Given the description of an element on the screen output the (x, y) to click on. 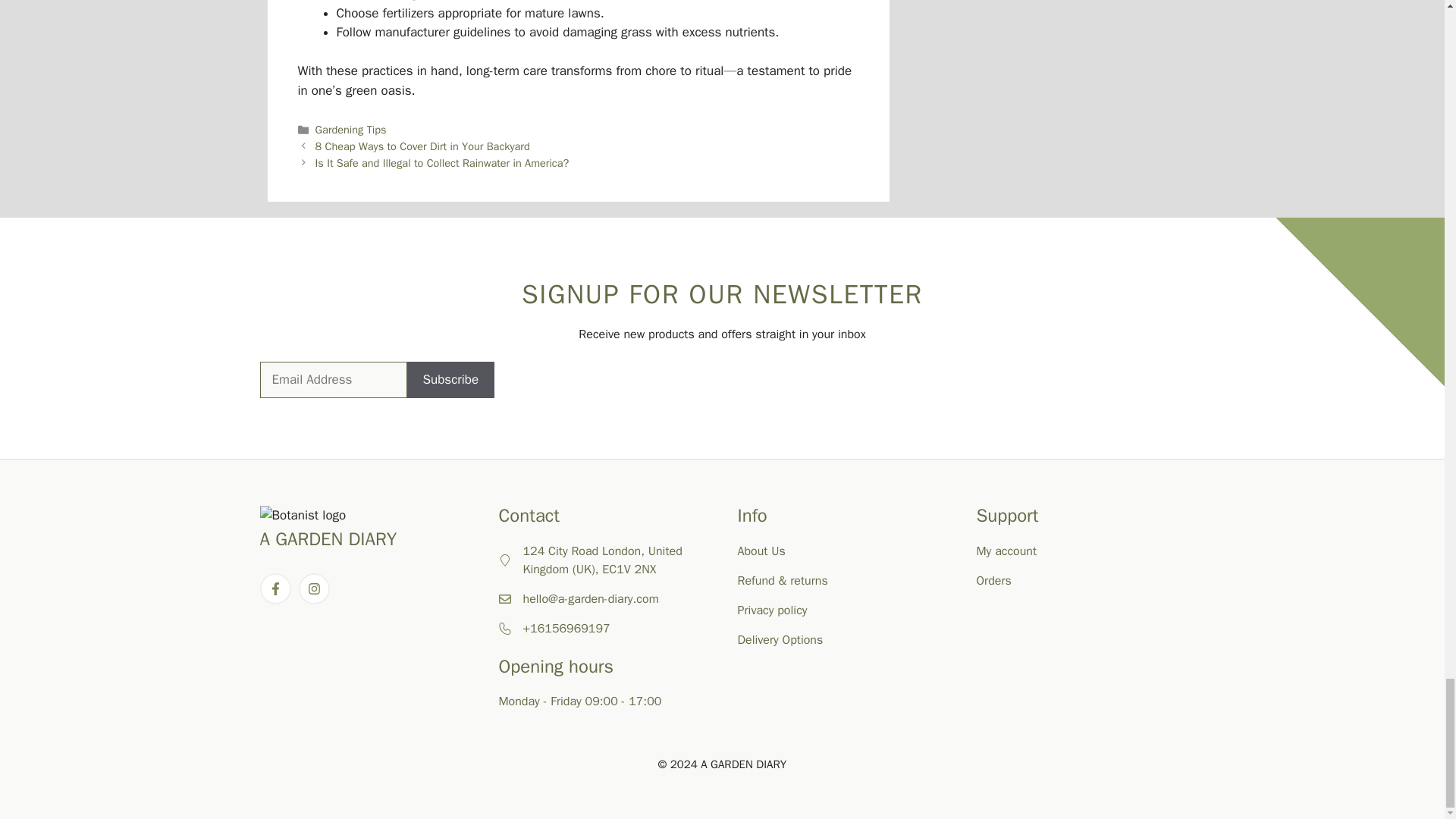
Privacy policy (771, 610)
Subscribe (450, 379)
Botanist logo (302, 515)
About Us (760, 550)
Orders (993, 580)
My account (1006, 550)
Subscribe (450, 379)
8 Cheap Ways to Cover Dirt in Your Backyard (422, 146)
Is It Safe and Illegal to Collect Rainwater in America? (442, 162)
Delivery Options (779, 639)
Gardening Tips (351, 129)
